Given the description of an element on the screen output the (x, y) to click on. 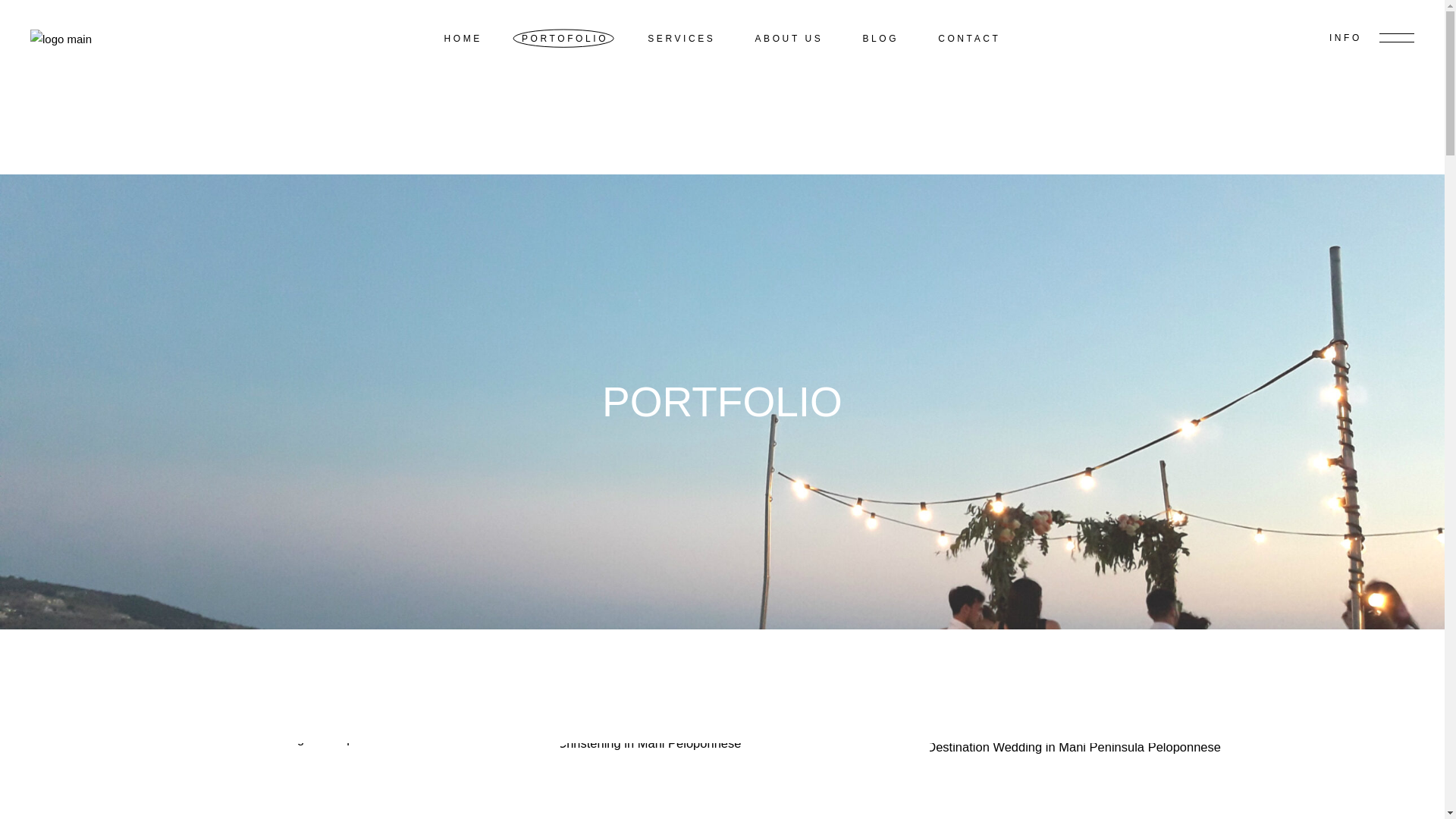
INFO (1371, 37)
ABOUT US (788, 38)
SERVICES (680, 38)
PORTOFOLIO (564, 38)
